Given the description of an element on the screen output the (x, y) to click on. 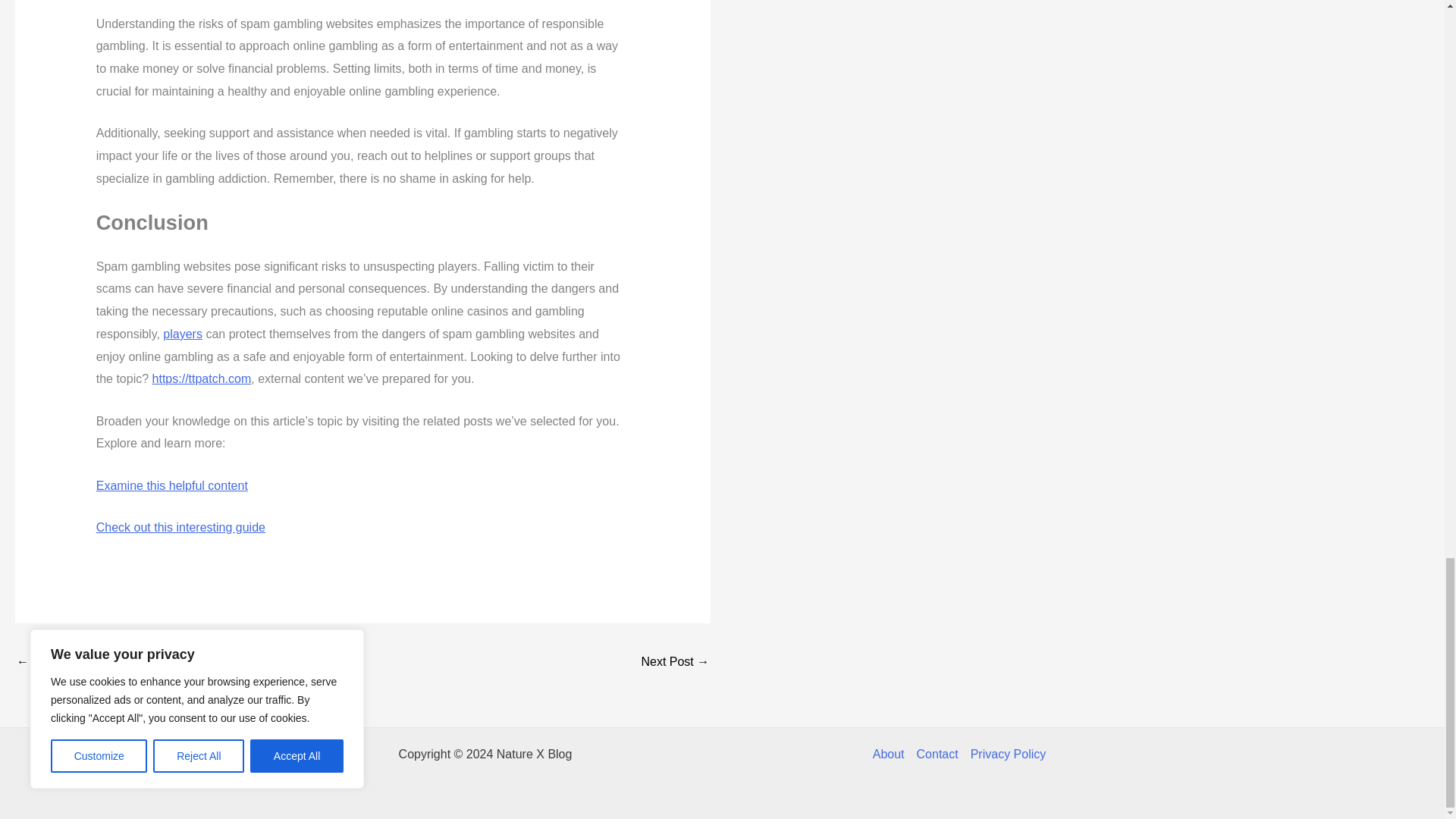
Check out this interesting guide (180, 526)
Analyzing Stats and Trends for Successful Sports Betting (61, 663)
players (182, 333)
Examine this helpful content (171, 485)
How to Choose a Reliable Sports Betting Website (674, 663)
